Given the description of an element on the screen output the (x, y) to click on. 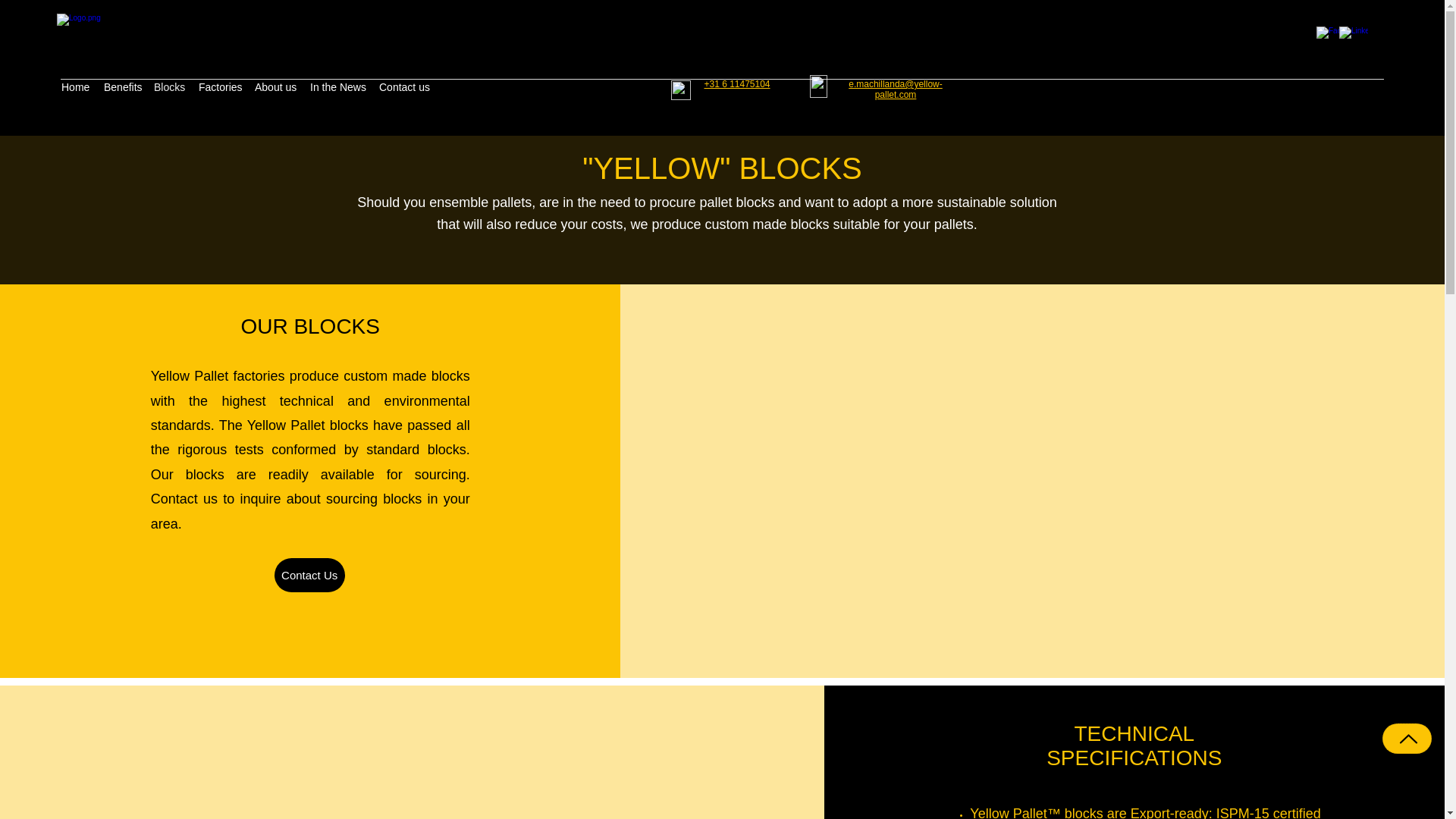
In the News (336, 87)
Benefits (121, 87)
Contact Us (310, 574)
Blocks (168, 87)
Factories (218, 87)
About us (274, 87)
Home (74, 87)
Contact us (402, 87)
